Given the description of an element on the screen output the (x, y) to click on. 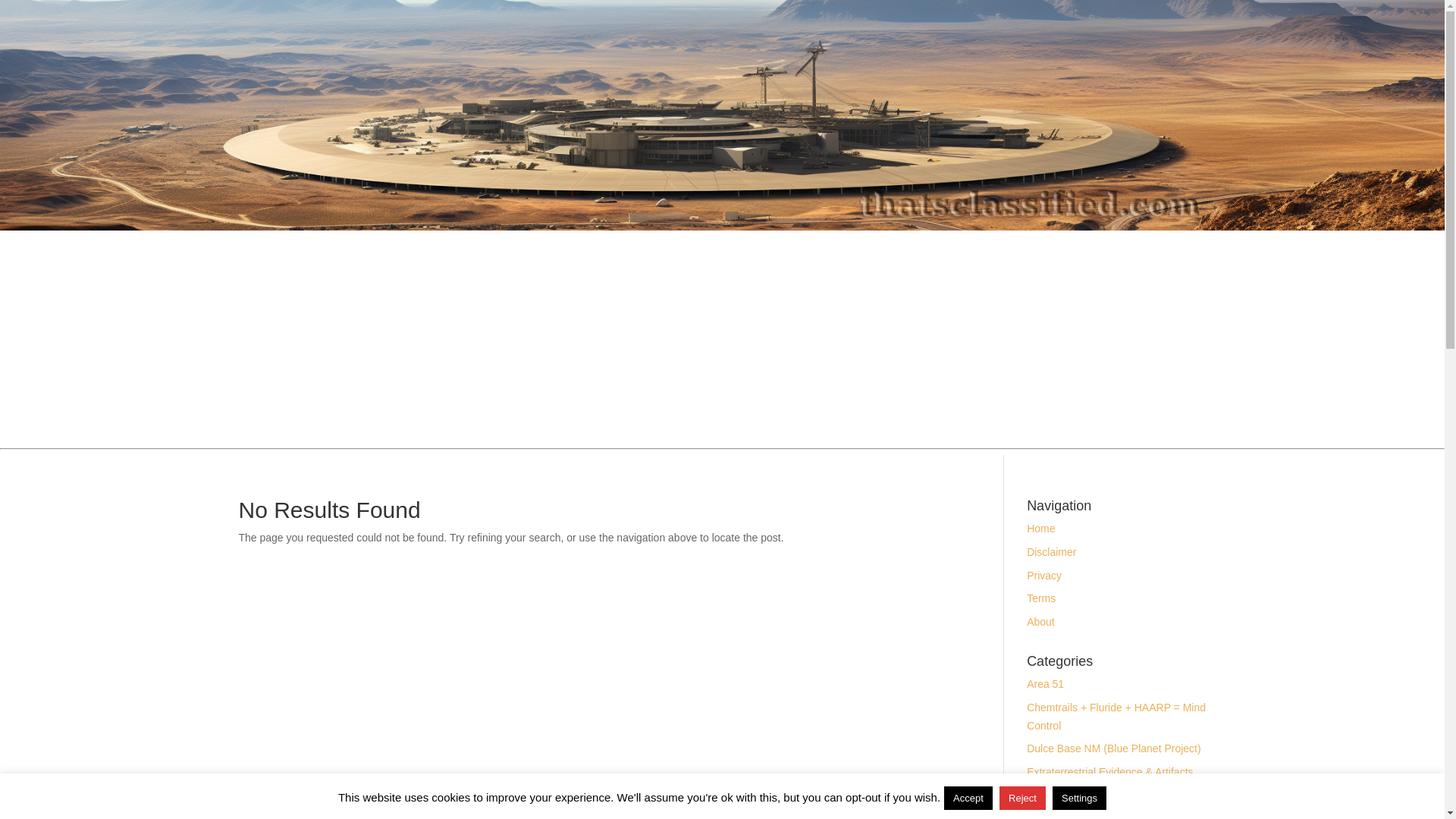
Terms (1040, 598)
Paranormal (1053, 816)
Accept (967, 797)
Settings (1079, 797)
About (1040, 621)
Home (1040, 528)
Reject (1021, 797)
Area 51 (1045, 684)
Moon Mysteries (1064, 795)
Disclaimer (1050, 551)
Privacy (1043, 575)
